Given the description of an element on the screen output the (x, y) to click on. 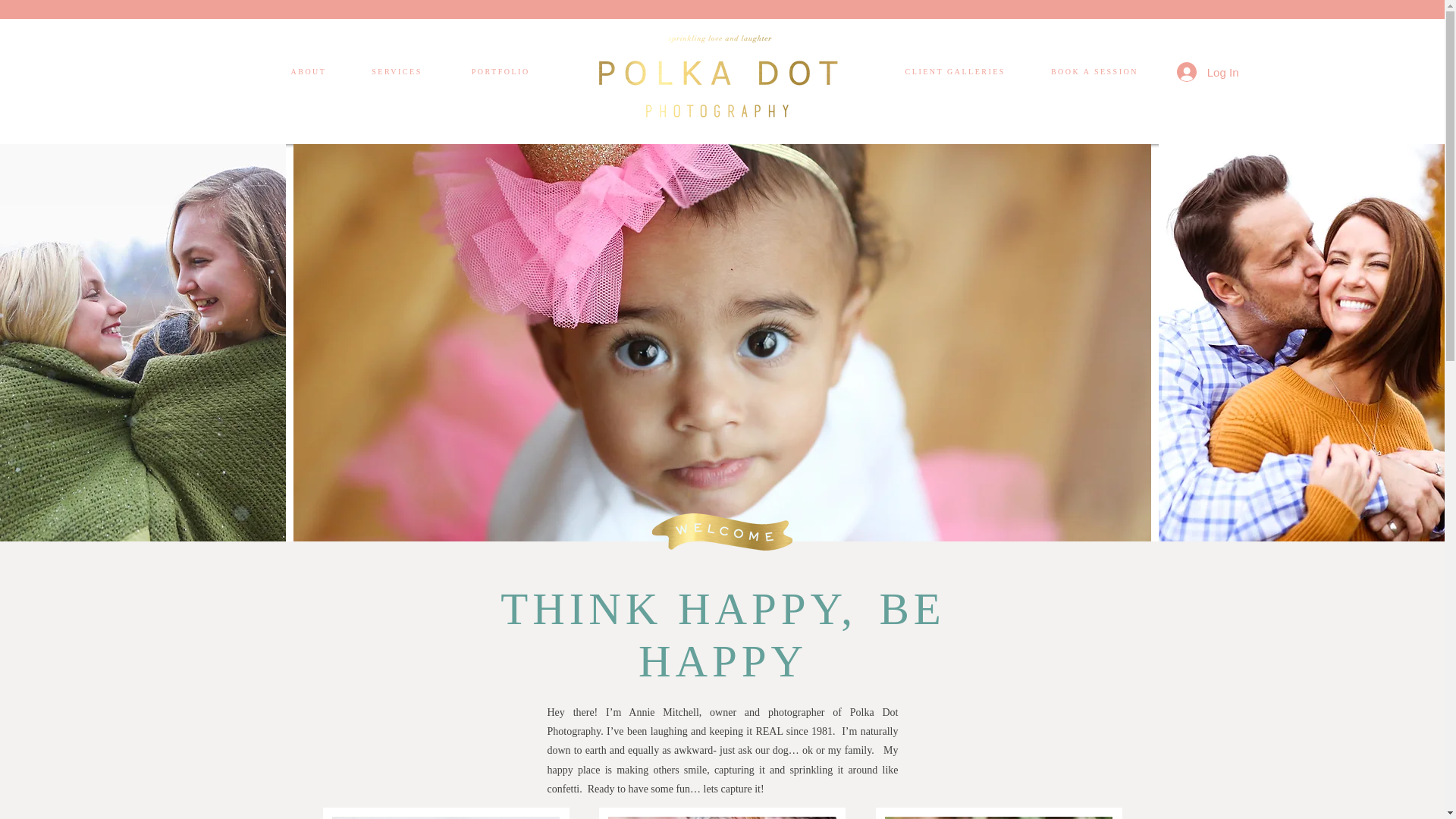
PORTFOLIO   (504, 71)
SERVICES (396, 71)
ABOUT (308, 71)
 CLIENT GALLERIES (953, 71)
BOOK A SESSION (1094, 71)
Log In (1207, 71)
